Given the description of an element on the screen output the (x, y) to click on. 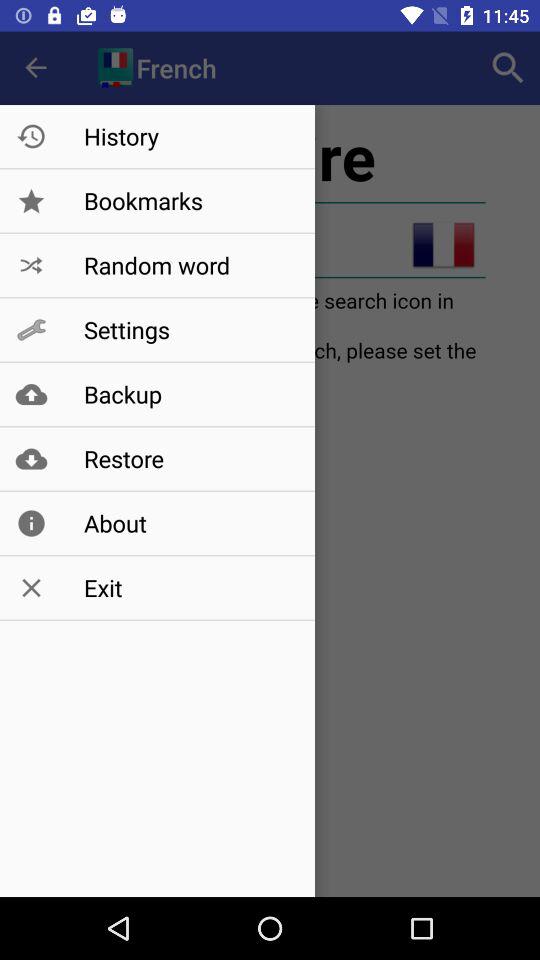
turn on about item (188, 523)
